Given the description of an element on the screen output the (x, y) to click on. 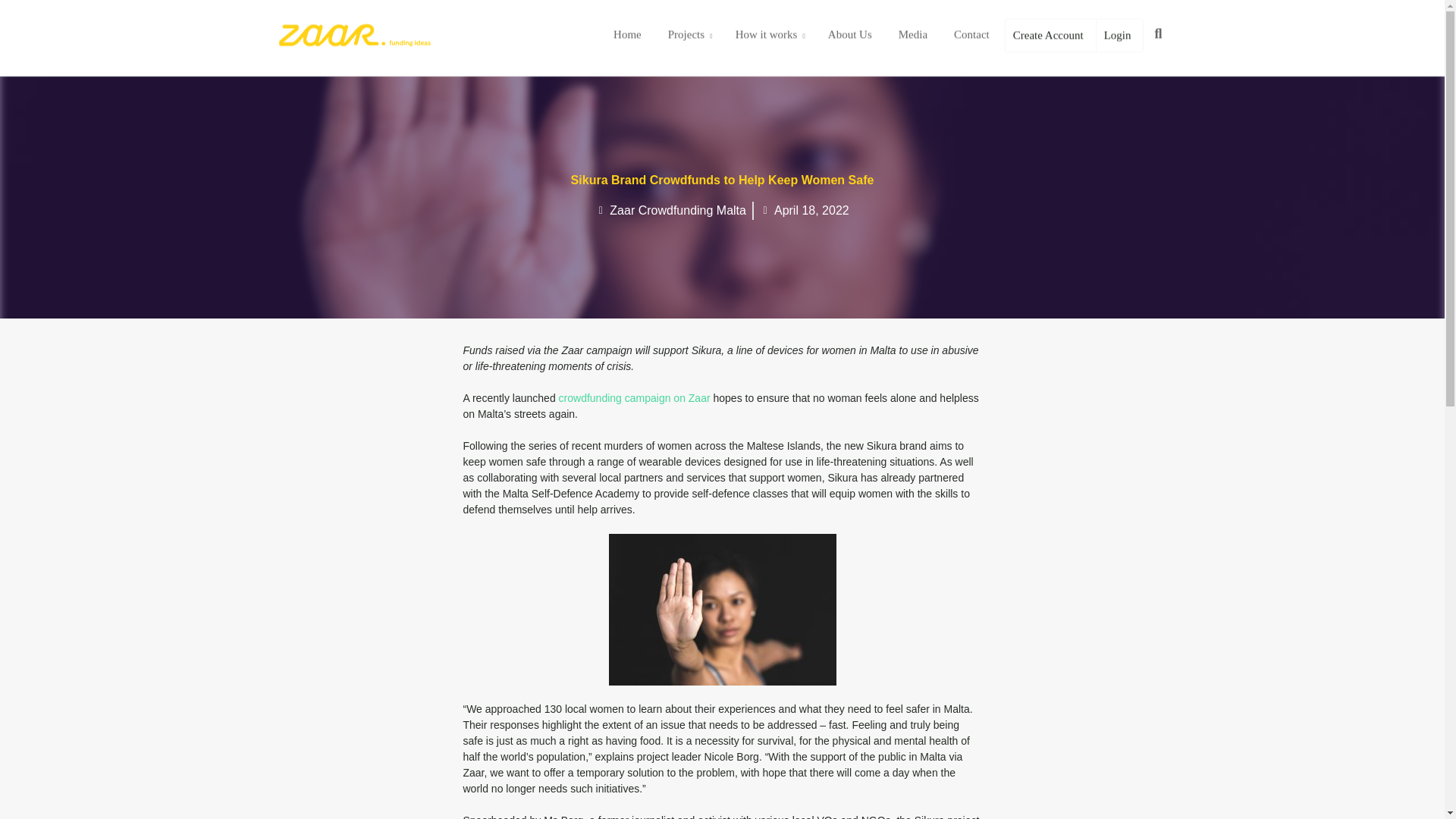
Contact (973, 38)
Create Account (1050, 35)
Zaar Crowdfunding Malta (670, 210)
ZAAR (354, 34)
Login (1119, 35)
Home (629, 38)
About Us (851, 38)
How it works (769, 38)
Projects (689, 38)
April 18, 2022 (804, 210)
